Given the description of an element on the screen output the (x, y) to click on. 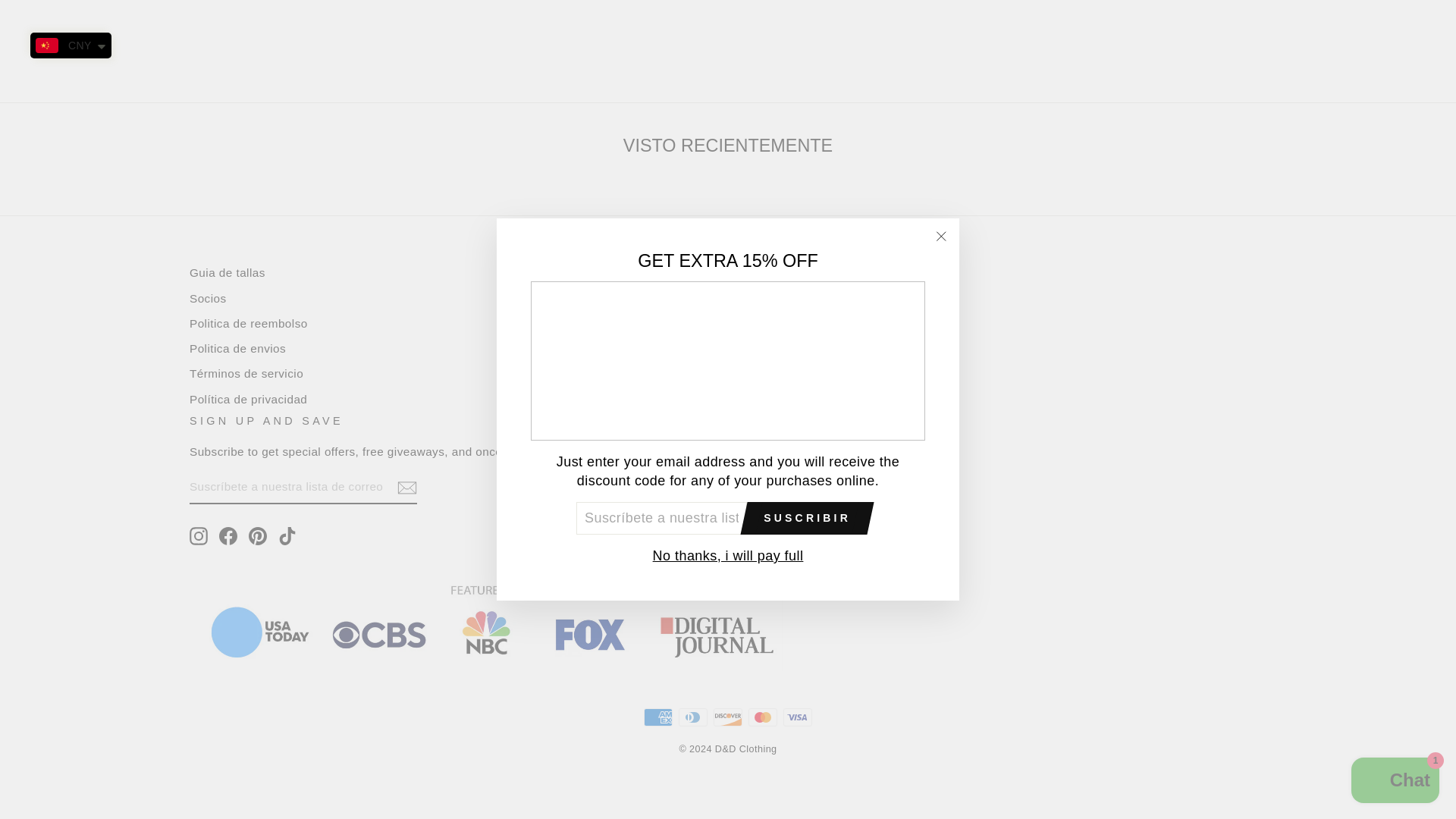
Visa (797, 717)
Discover (727, 717)
Diners Club (692, 717)
Mastercard (762, 717)
American Express (657, 717)
